Given the description of an element on the screen output the (x, y) to click on. 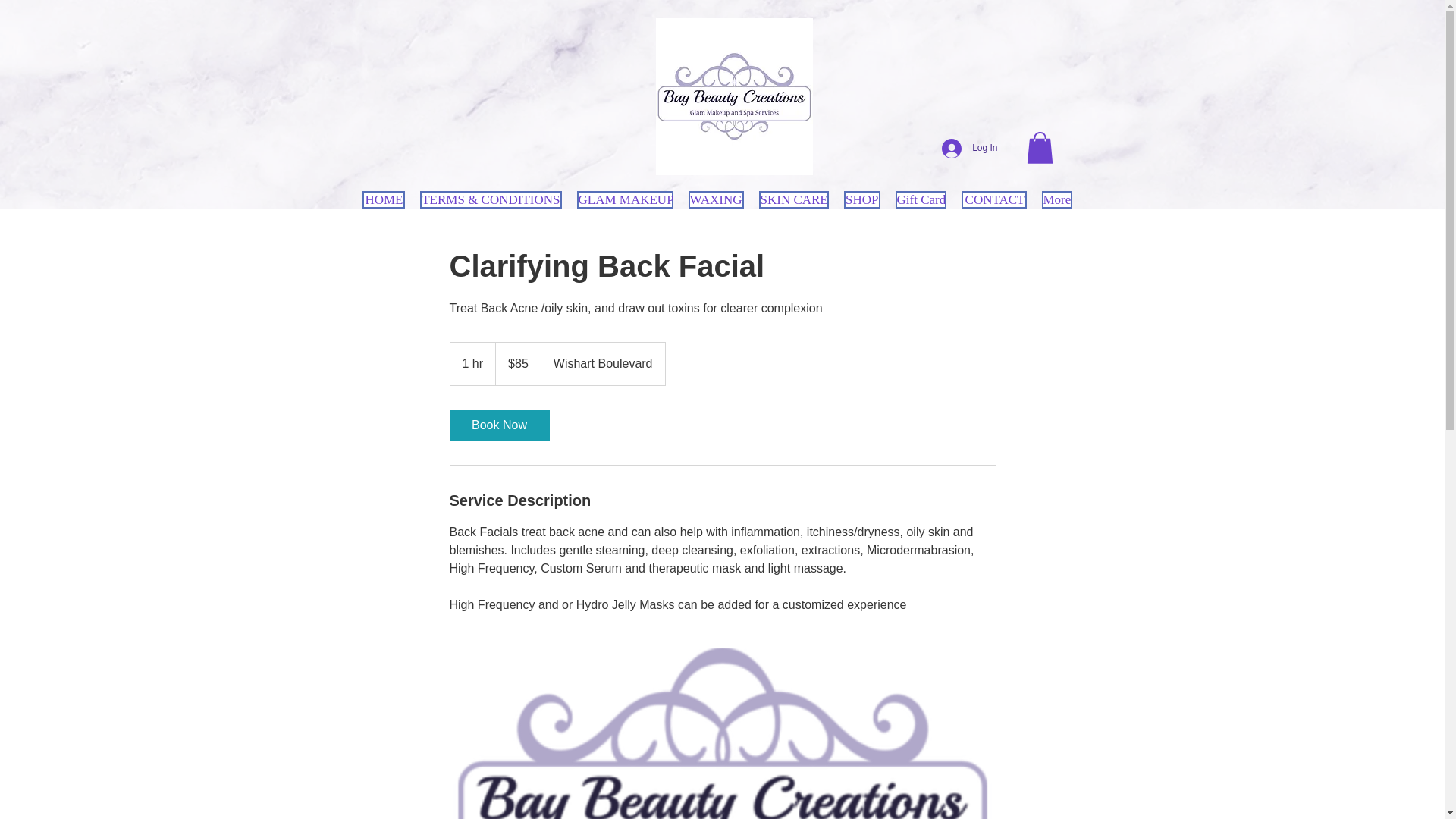
SHOP (861, 199)
Gift Card (919, 199)
SKIN CARE (793, 199)
HOME (383, 199)
Log In (969, 148)
GLAM MAKEUP (624, 199)
Book Now (498, 425)
CONTACT (993, 199)
WAXING (716, 199)
